Given the description of an element on the screen output the (x, y) to click on. 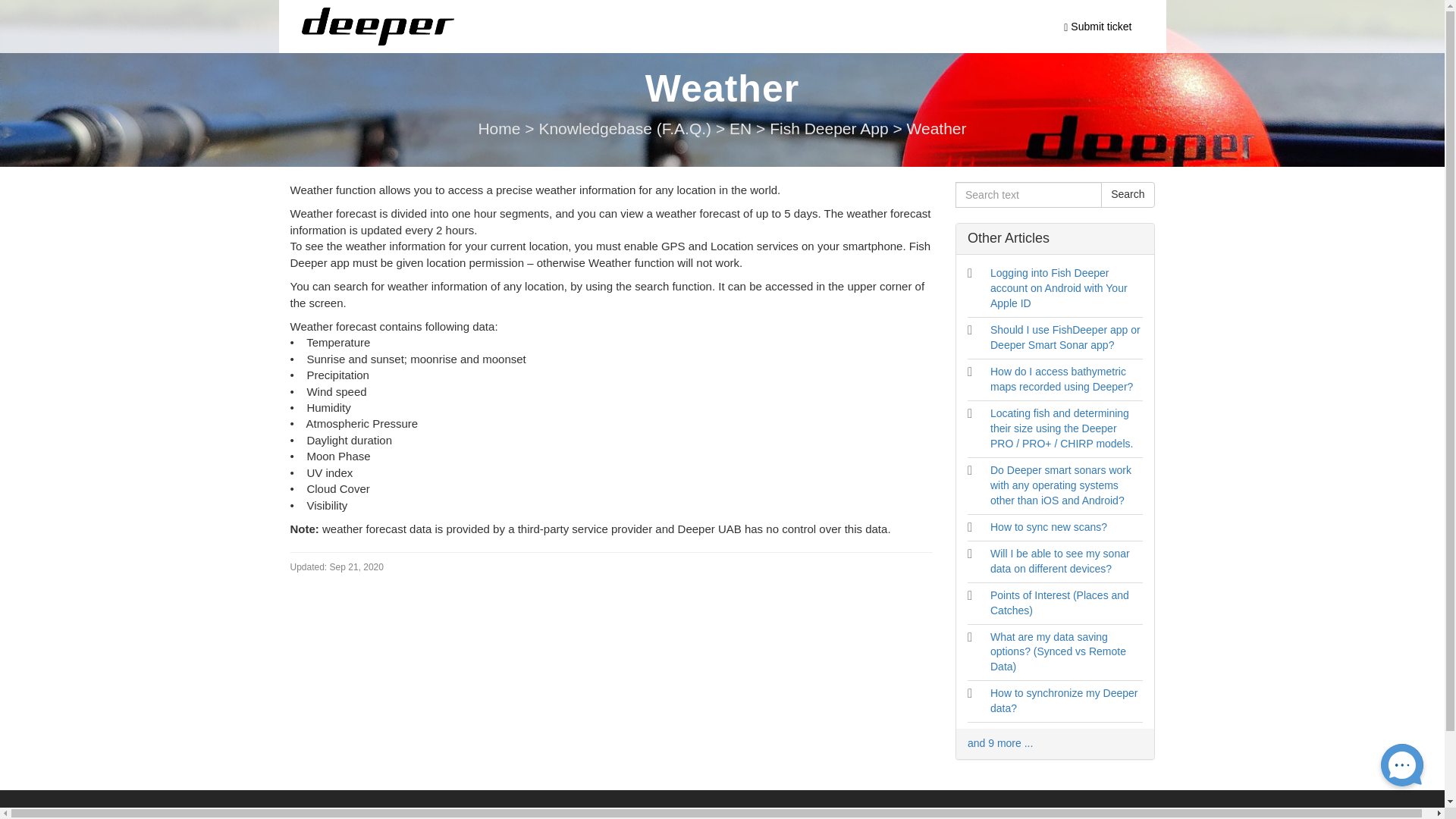
and 9 more ... (1000, 743)
How to synchronize my Deeper data? (1064, 700)
Fish Deeper App (831, 128)
Home (500, 128)
Search (1127, 194)
Should I use FishDeeper app or Deeper Smart Sonar app? (1065, 337)
How do I access bathymetric maps recorded using Deeper? (1061, 379)
Sep 21, 2020, 10:43 PM (335, 567)
How to sync new scans? (1048, 526)
